Given the description of an element on the screen output the (x, y) to click on. 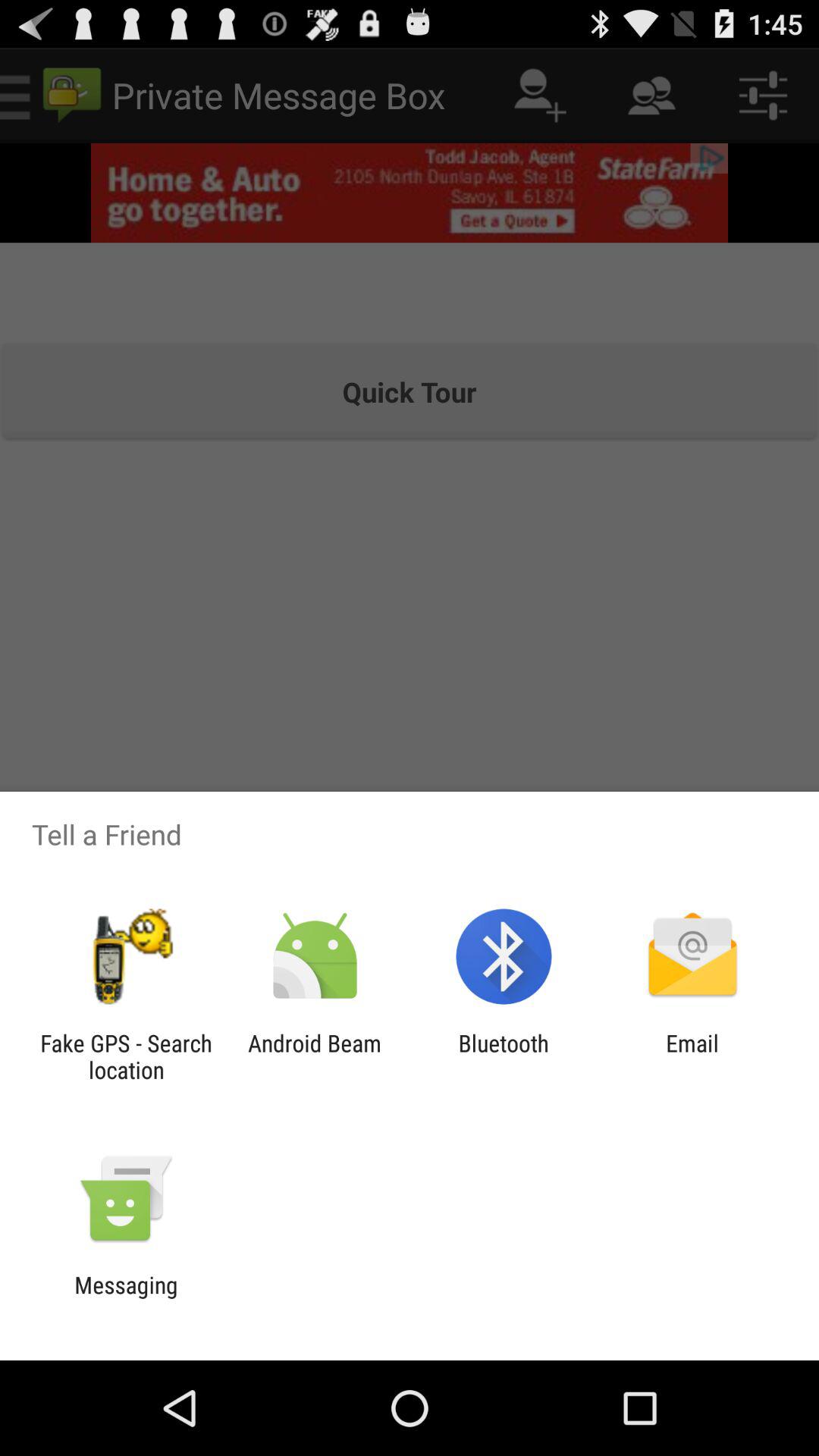
click the item next to bluetooth icon (692, 1056)
